Given the description of an element on the screen output the (x, y) to click on. 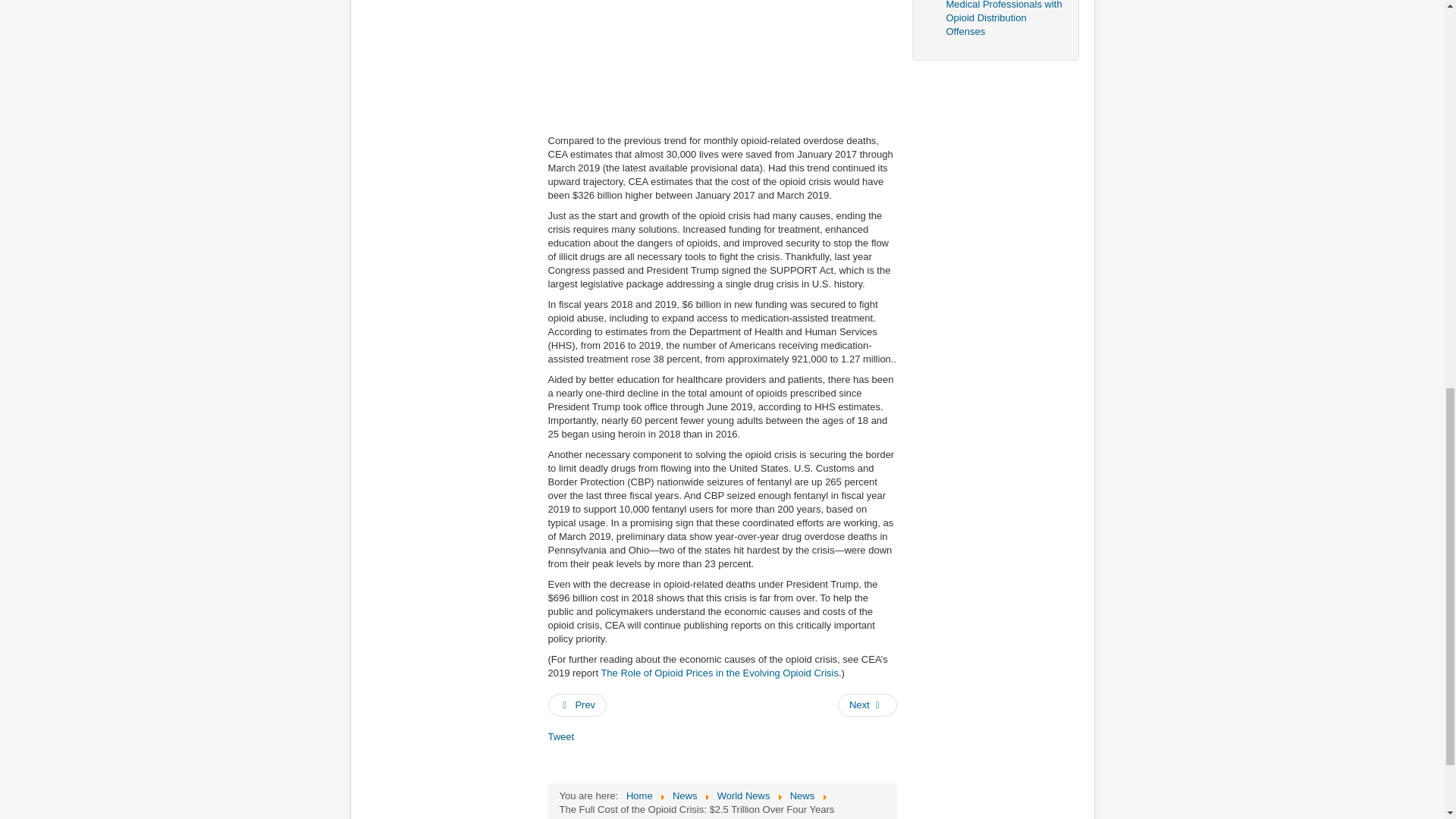
News (684, 795)
World News (743, 795)
News (802, 795)
Next (867, 704)
Home (639, 795)
Prev (577, 704)
Tweet (560, 736)
The Role of Opioid Prices in the Evolving Opioid Crisis (718, 672)
